Given the description of an element on the screen output the (x, y) to click on. 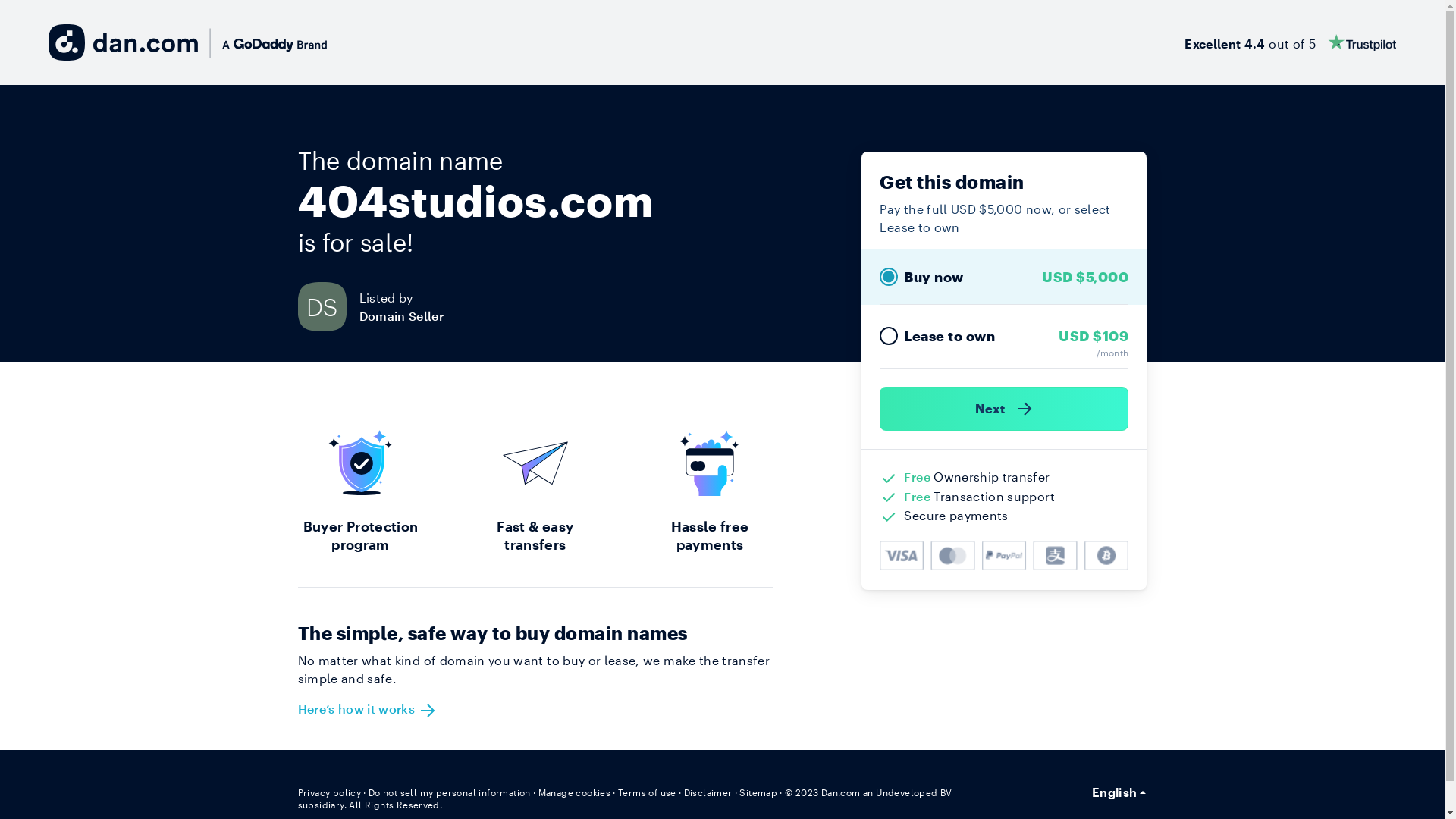
Terms of use Element type: text (647, 792)
Excellent 4.4 out of 5 Element type: text (1290, 42)
Do not sell my personal information Element type: text (449, 792)
Privacy policy Element type: text (328, 792)
Next
) Element type: text (1003, 408)
Sitemap Element type: text (758, 792)
English Element type: text (1119, 792)
Manage cookies Element type: text (574, 792)
Disclaimer Element type: text (708, 792)
